Given the description of an element on the screen output the (x, y) to click on. 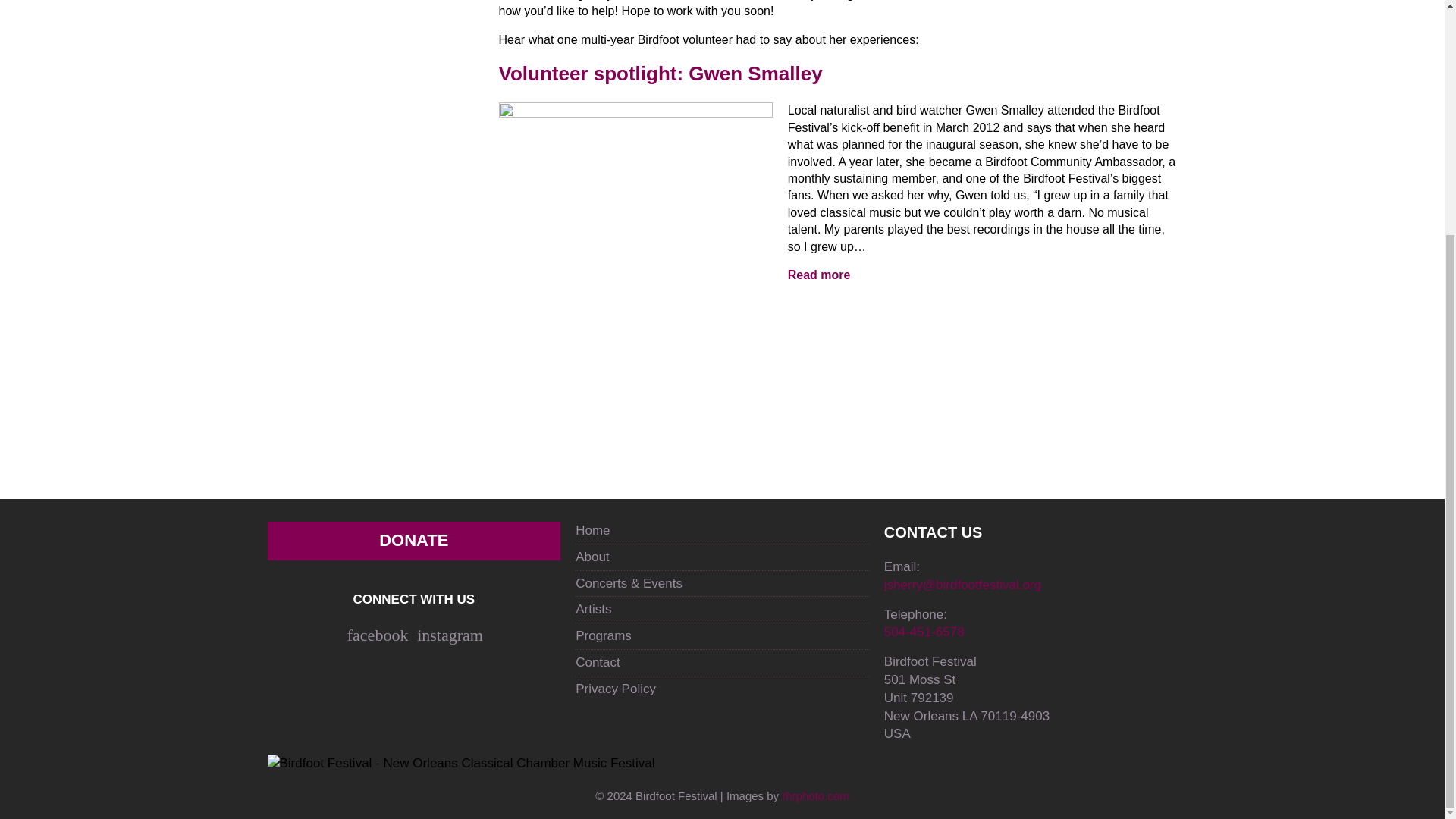
504-451-6578 (923, 631)
Volunteer spotlight: Gwen Smalley (636, 204)
facebook (378, 634)
Volunteer spotlight: Gwen Smalley (818, 274)
Donate (413, 540)
instagram (449, 634)
